Given the description of an element on the screen output the (x, y) to click on. 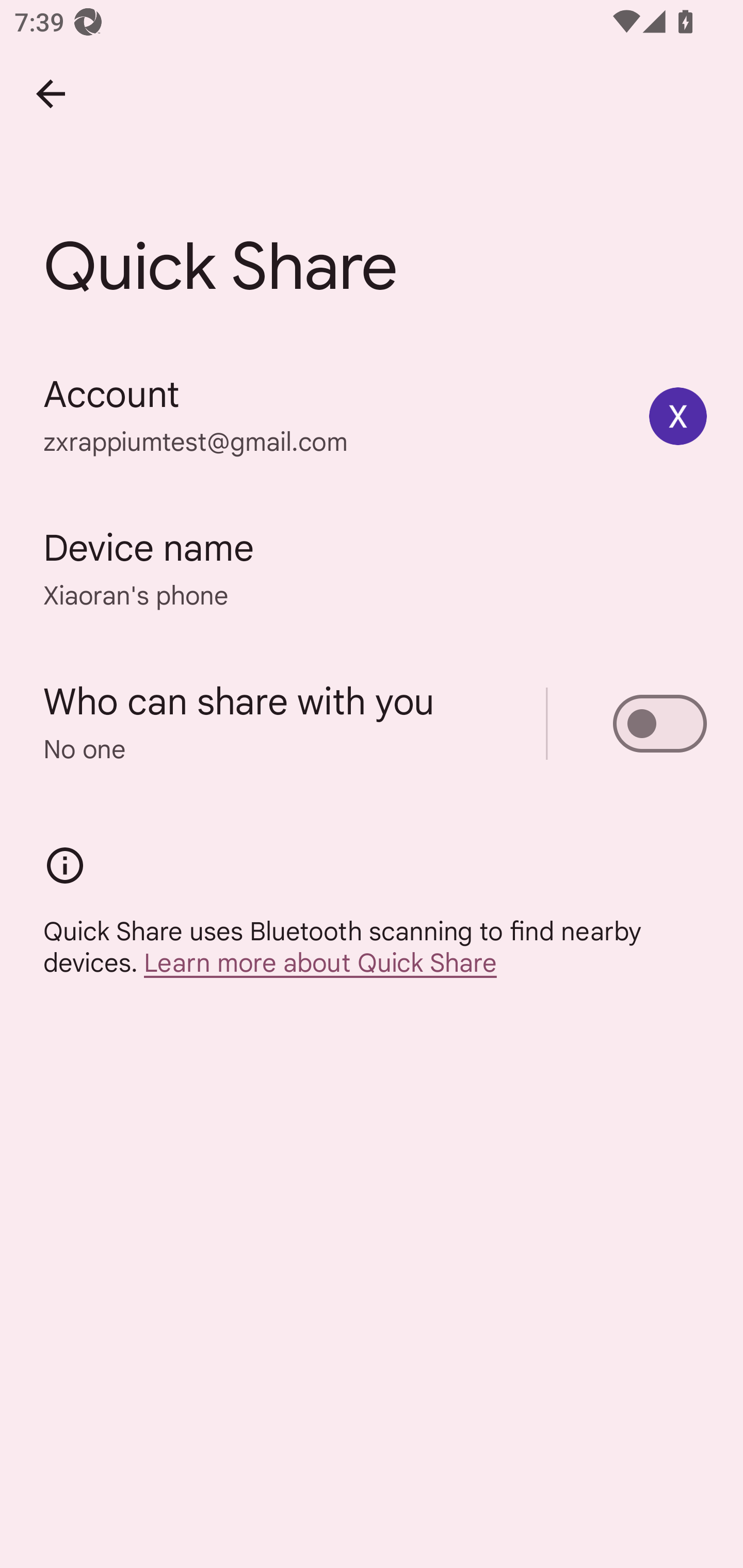
Back (50, 93)
Account zxrappiumtest@gmail.com (371, 415)
Device name Xiaoran's phone (371, 569)
Who can share with you No one (371, 723)
